Given the description of an element on the screen output the (x, y) to click on. 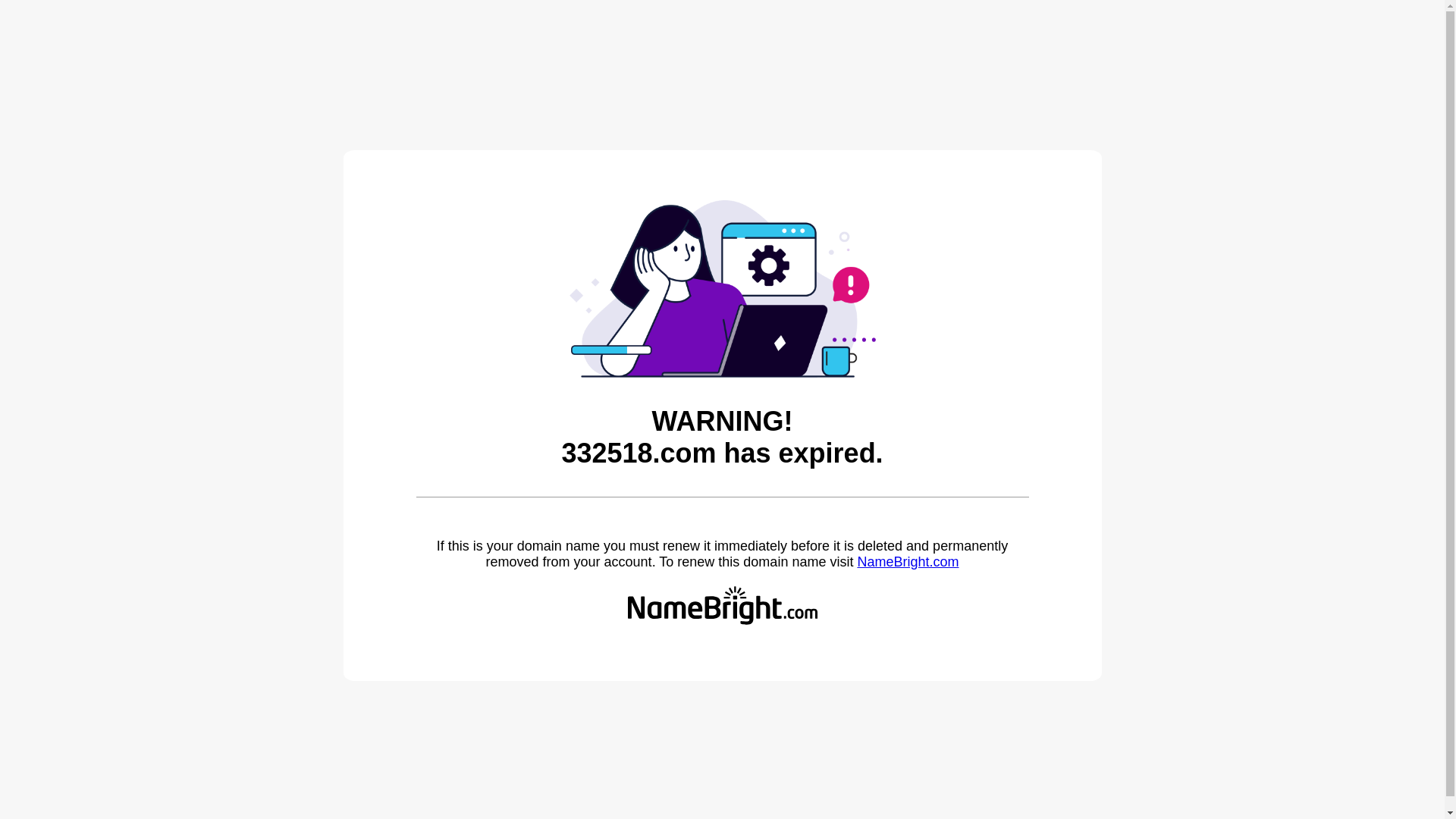
NameBright.com Element type: text (907, 561)
